Given the description of an element on the screen output the (x, y) to click on. 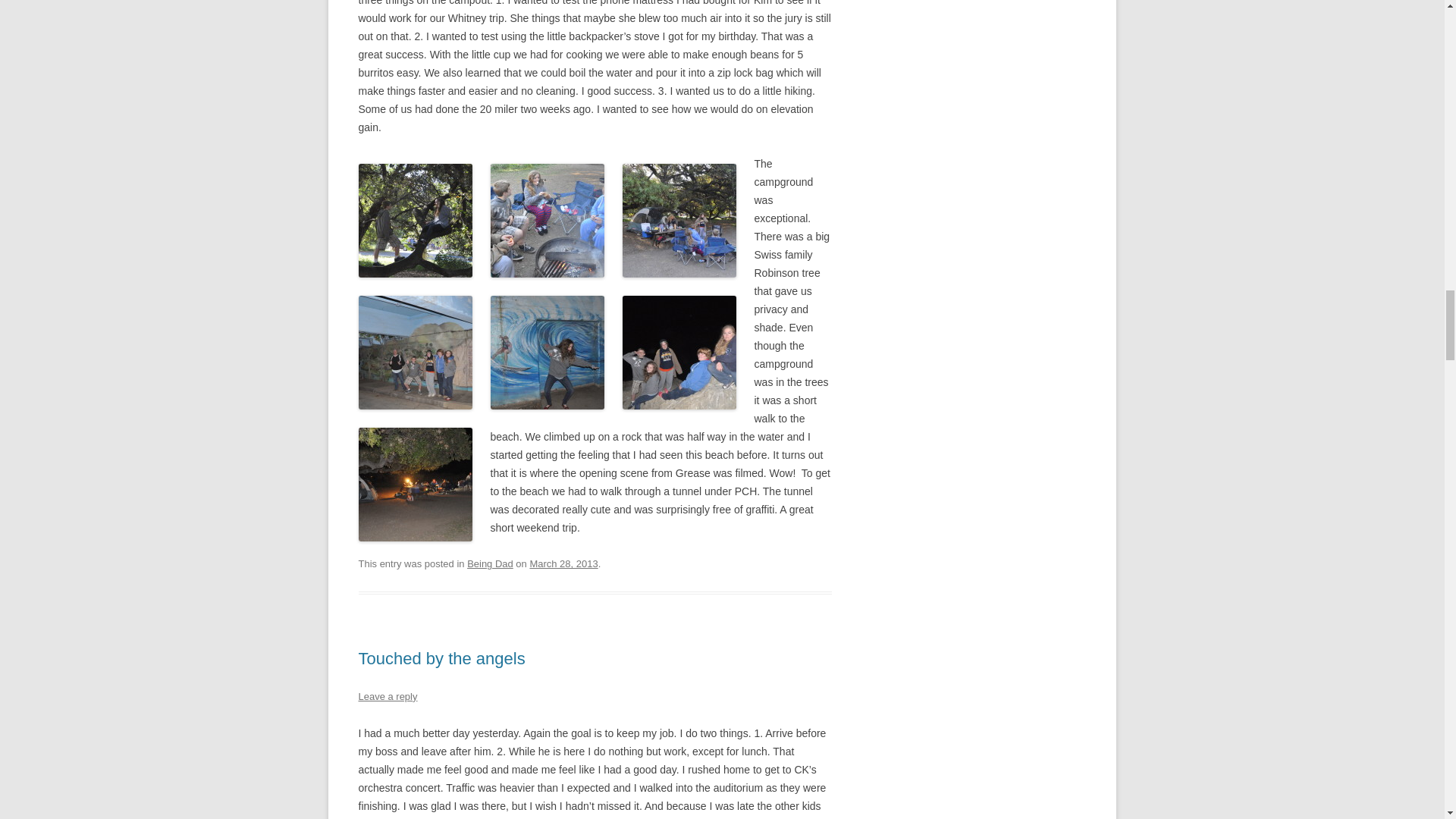
Being Dad (490, 563)
9:31 am (562, 563)
Leave a reply (387, 696)
Touched by the angels (441, 658)
March 28, 2013 (562, 563)
